Given the description of an element on the screen output the (x, y) to click on. 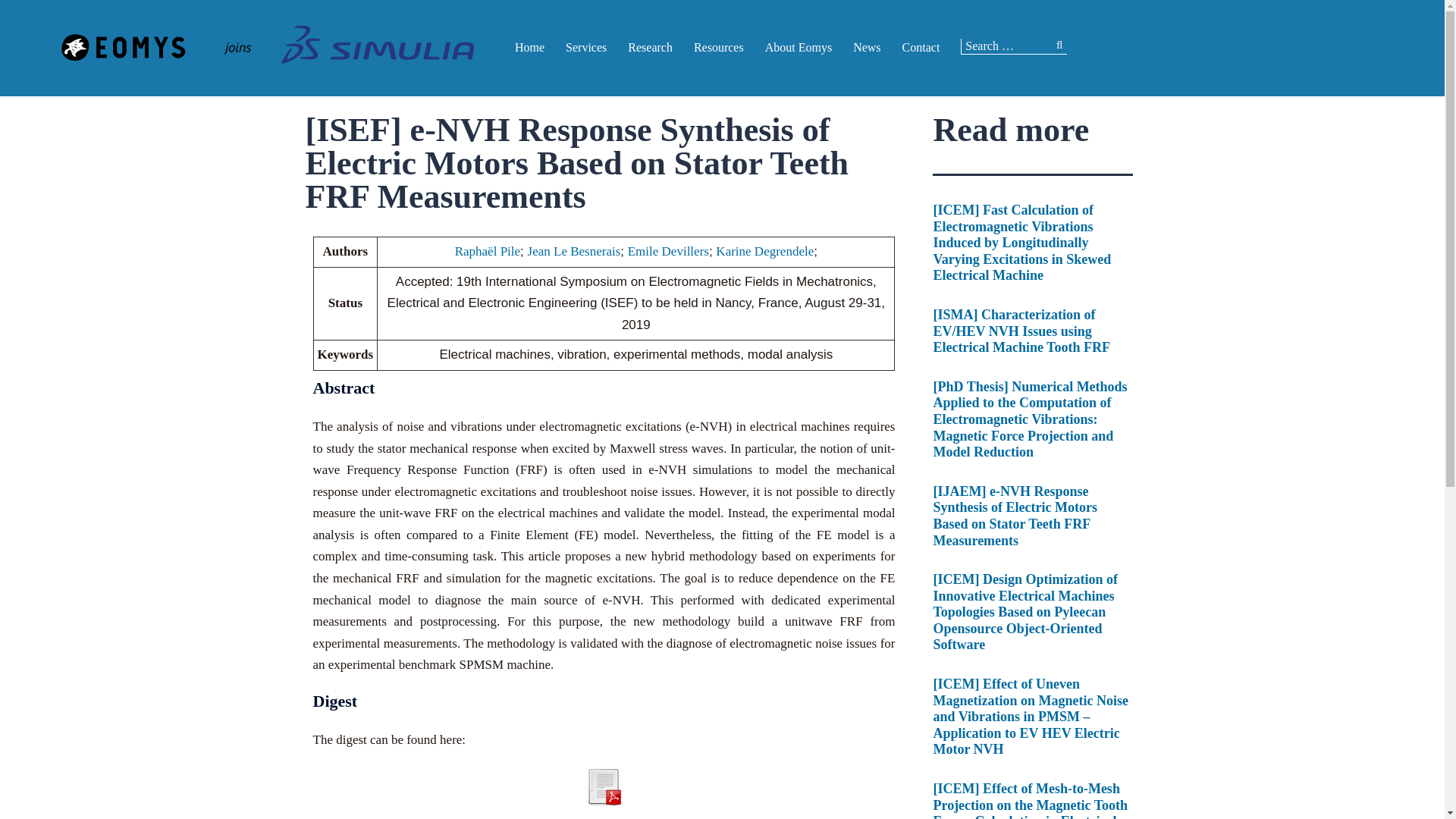
Home (529, 47)
Contact (921, 47)
Research (649, 47)
About Eomys (798, 47)
Karine Degrendele (764, 251)
Jean Le Besnerais (574, 251)
News (866, 47)
Search (49, 18)
Emile Devillers (668, 251)
